Given the description of an element on the screen output the (x, y) to click on. 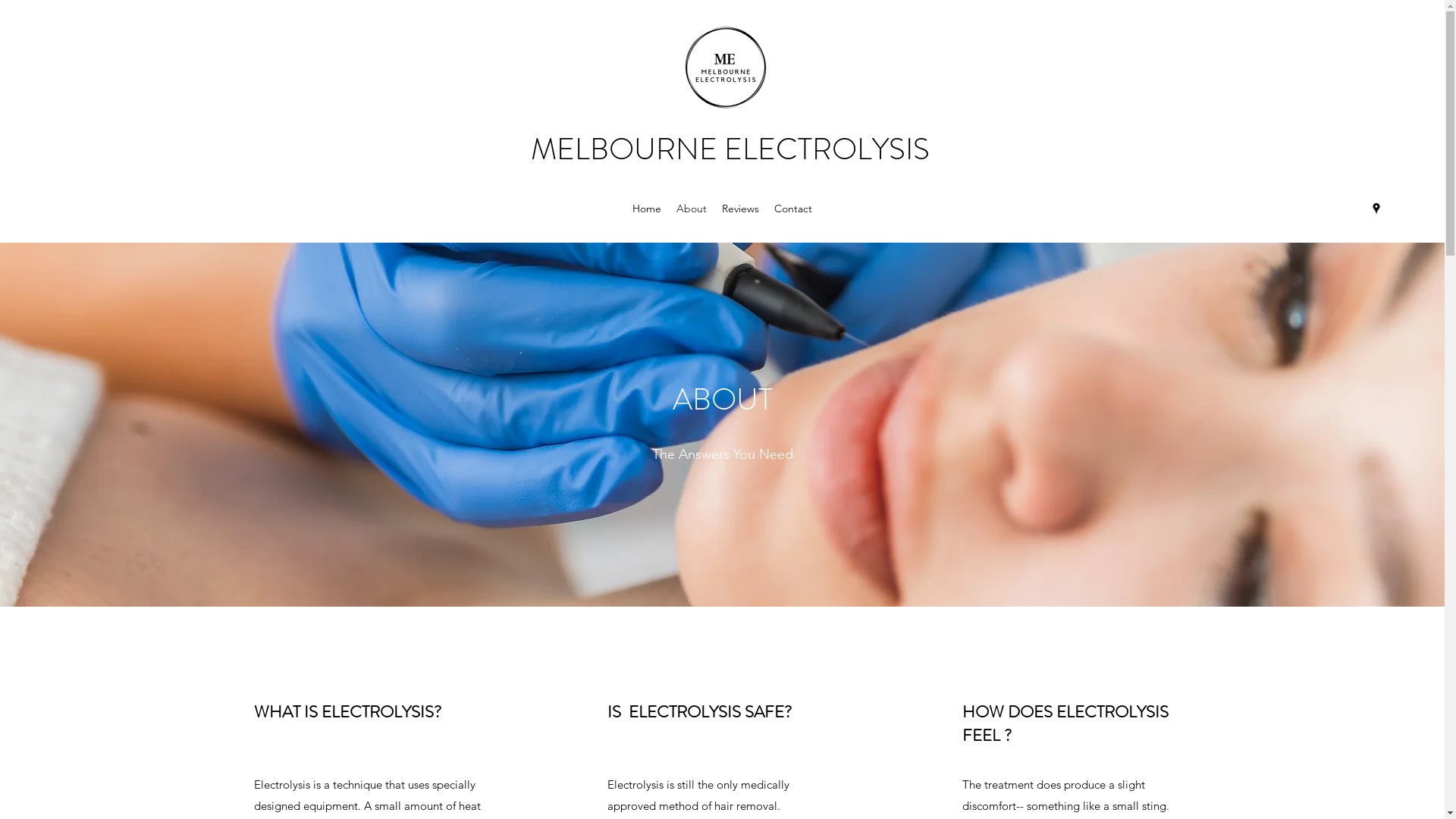
Contact Element type: text (792, 208)
Home Element type: text (646, 208)
Reviews Element type: text (740, 208)
About Element type: text (691, 208)
MELBOURNE ELECTROLYSIS Element type: text (729, 148)
